Given the description of an element on the screen output the (x, y) to click on. 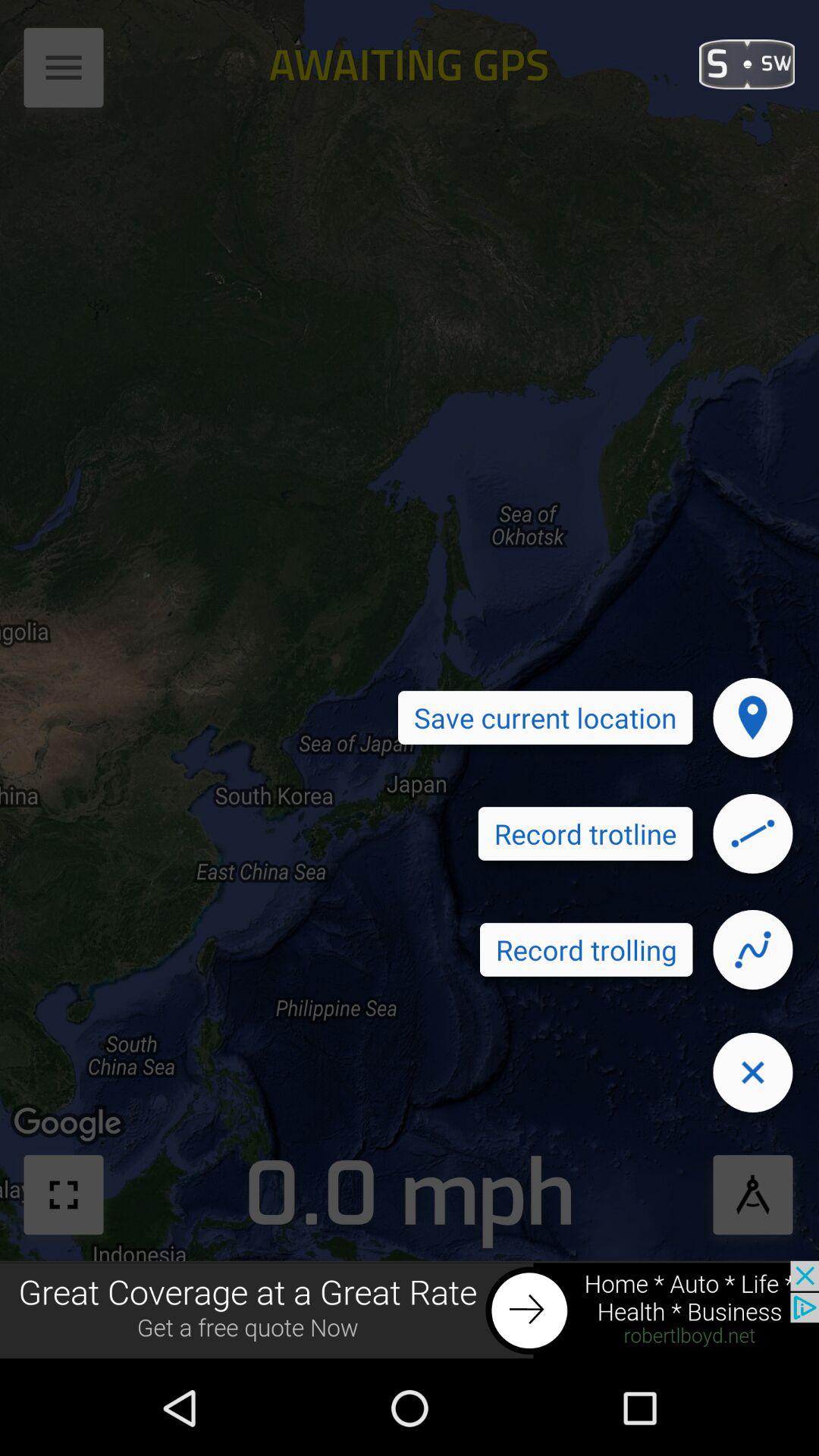
taggle to add extensions (64, 72)
